Given the description of an element on the screen output the (x, y) to click on. 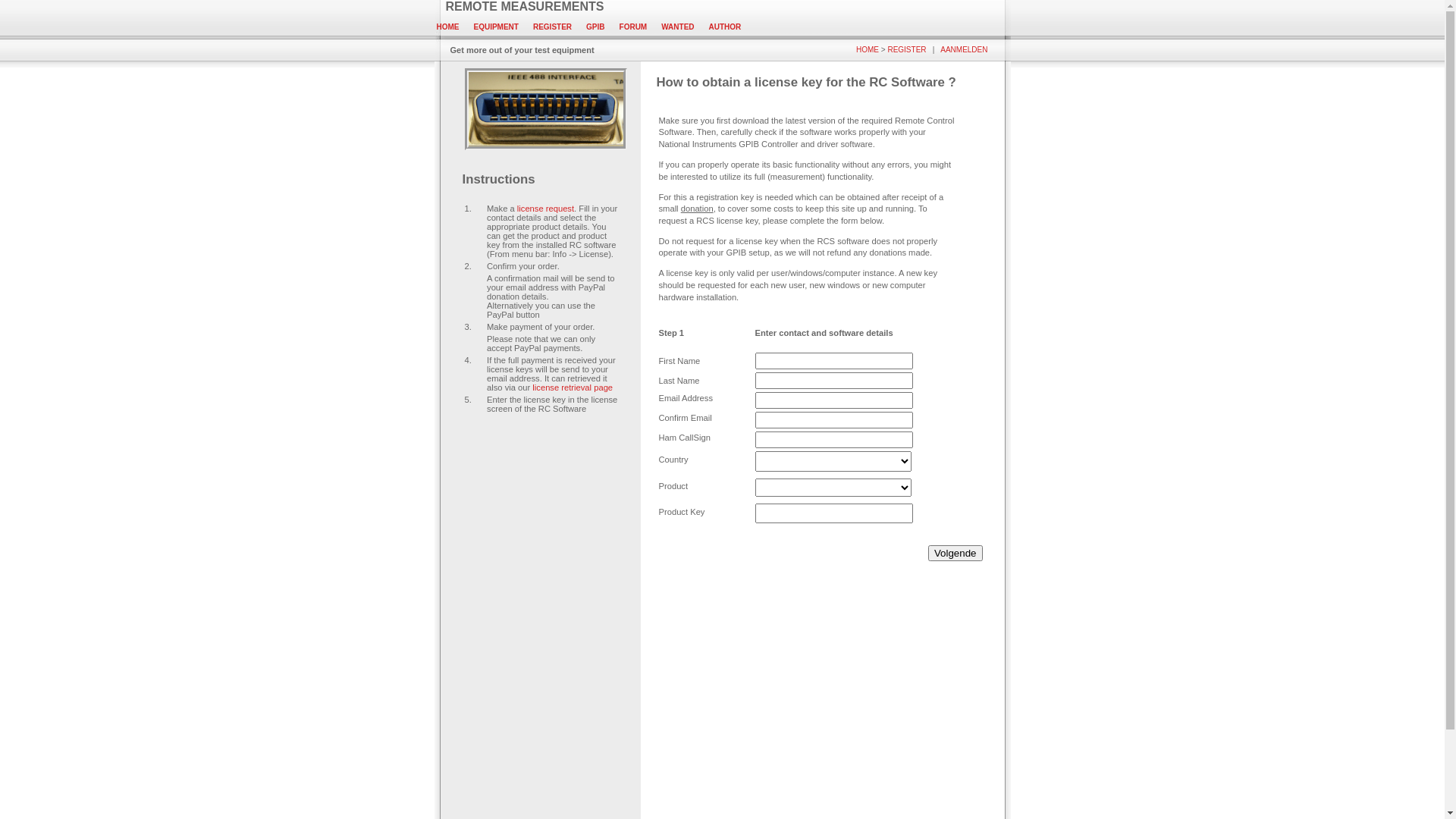
EQUIPMENT Element type: text (495, 26)
license retrieval page Element type: text (572, 387)
HOME Element type: text (447, 26)
WANTED Element type: text (677, 26)
Volgende Element type: text (955, 553)
HOME Element type: text (867, 49)
AUTHOR Element type: text (725, 26)
REGISTER Element type: text (552, 26)
FORUM Element type: text (633, 26)
license request Element type: text (545, 208)
GPIB Element type: text (595, 26)
REGISTER Element type: text (906, 49)
AANMELDEN Element type: text (963, 49)
